Given the description of an element on the screen output the (x, y) to click on. 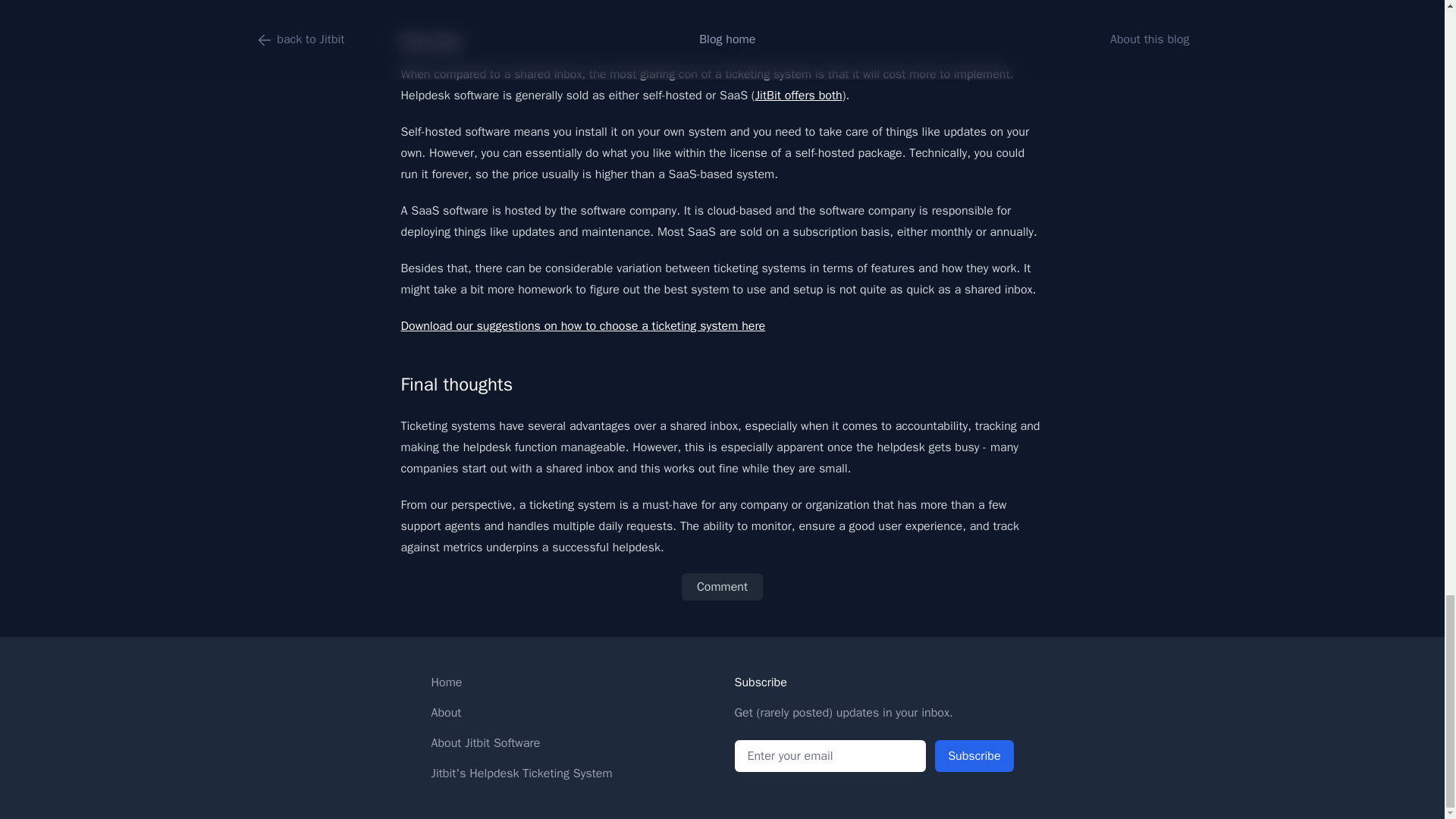
Comment (721, 586)
Jitbit's Helpdesk Ticketing System (520, 773)
JitBit offers both (799, 95)
Home (445, 682)
About Jitbit Software (485, 743)
Subscribe (973, 756)
About (445, 712)
